Given the description of an element on the screen output the (x, y) to click on. 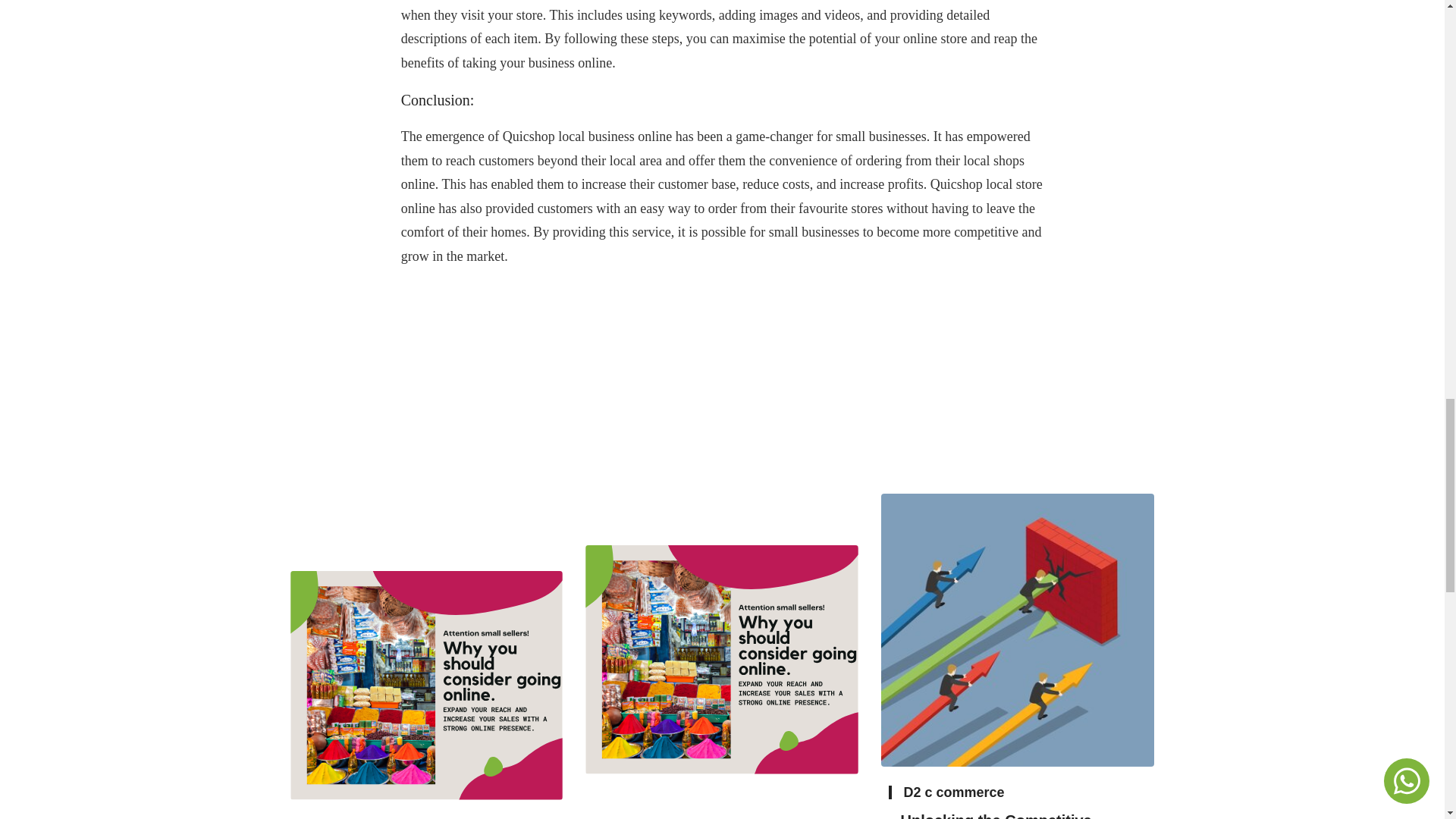
D2 c commerce (953, 792)
